Given the description of an element on the screen output the (x, y) to click on. 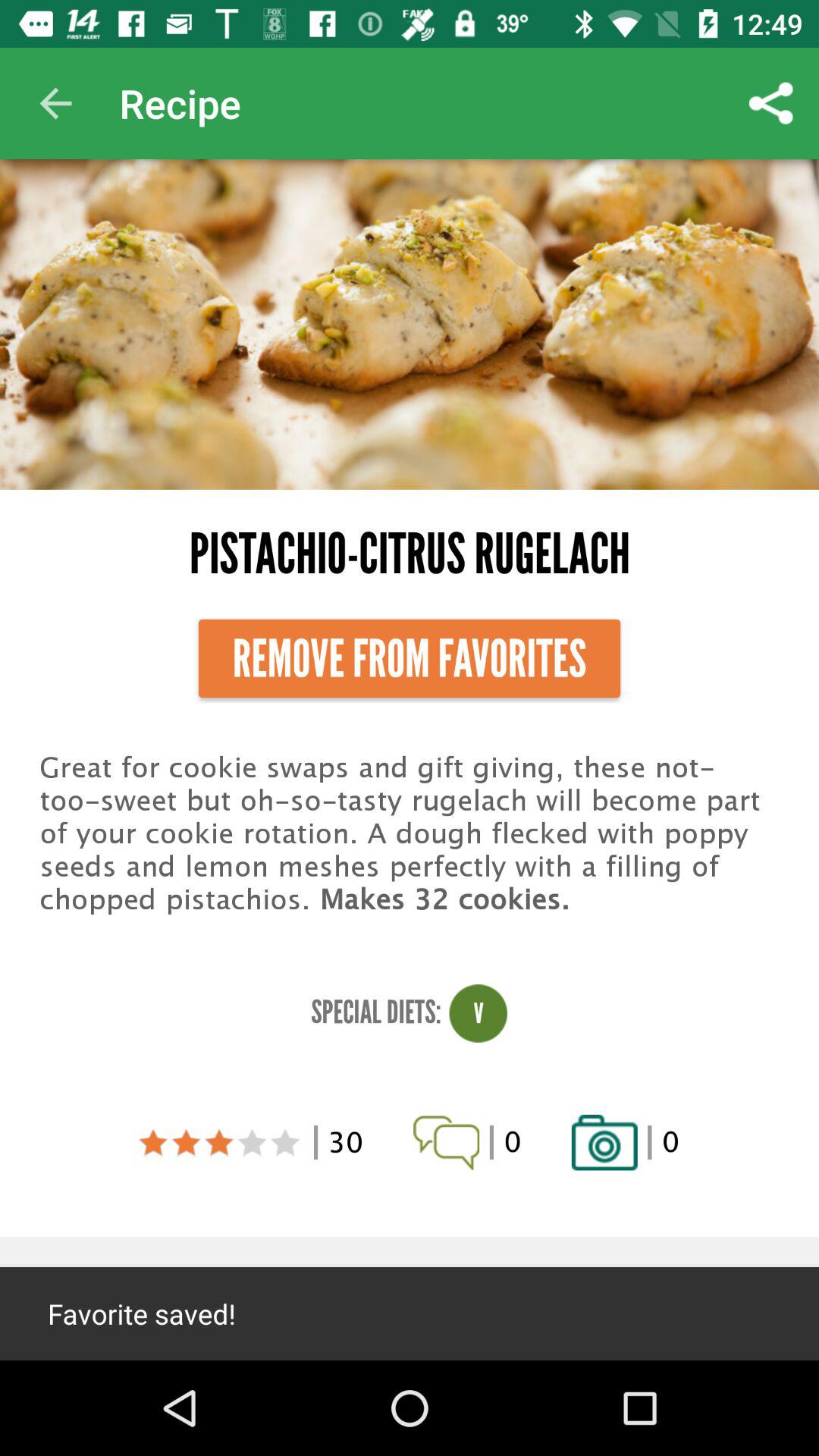
tap app to the left of recipe app (55, 103)
